Given the description of an element on the screen output the (x, y) to click on. 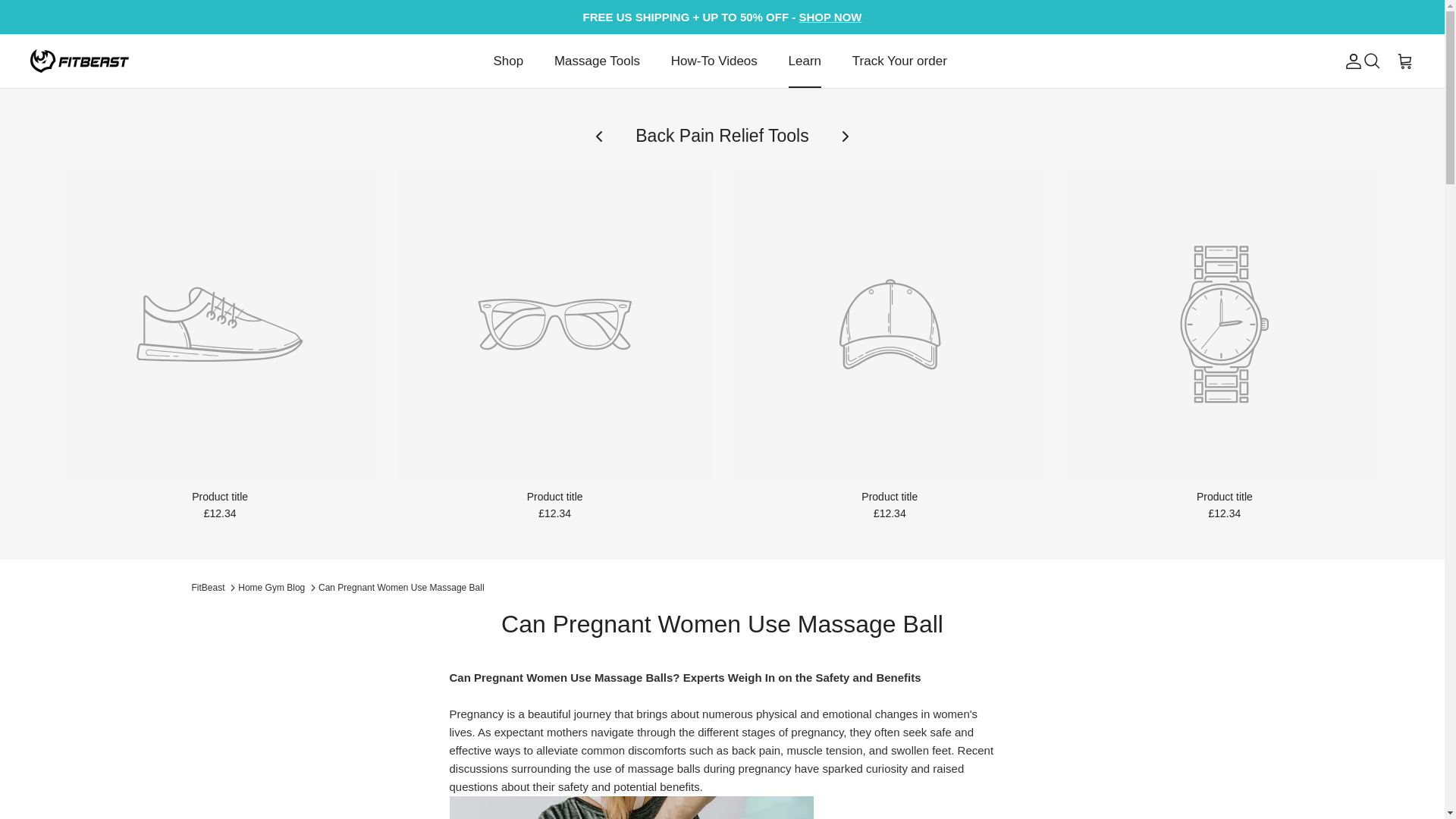
SHOP NOW (829, 16)
How-To Videos (714, 61)
Shop (508, 61)
The Biggest Discount  of The Year (829, 16)
Massage Tools (596, 61)
Learn (804, 61)
FitBeast (79, 60)
Search (1371, 61)
Track Your order (899, 61)
